Given the description of an element on the screen output the (x, y) to click on. 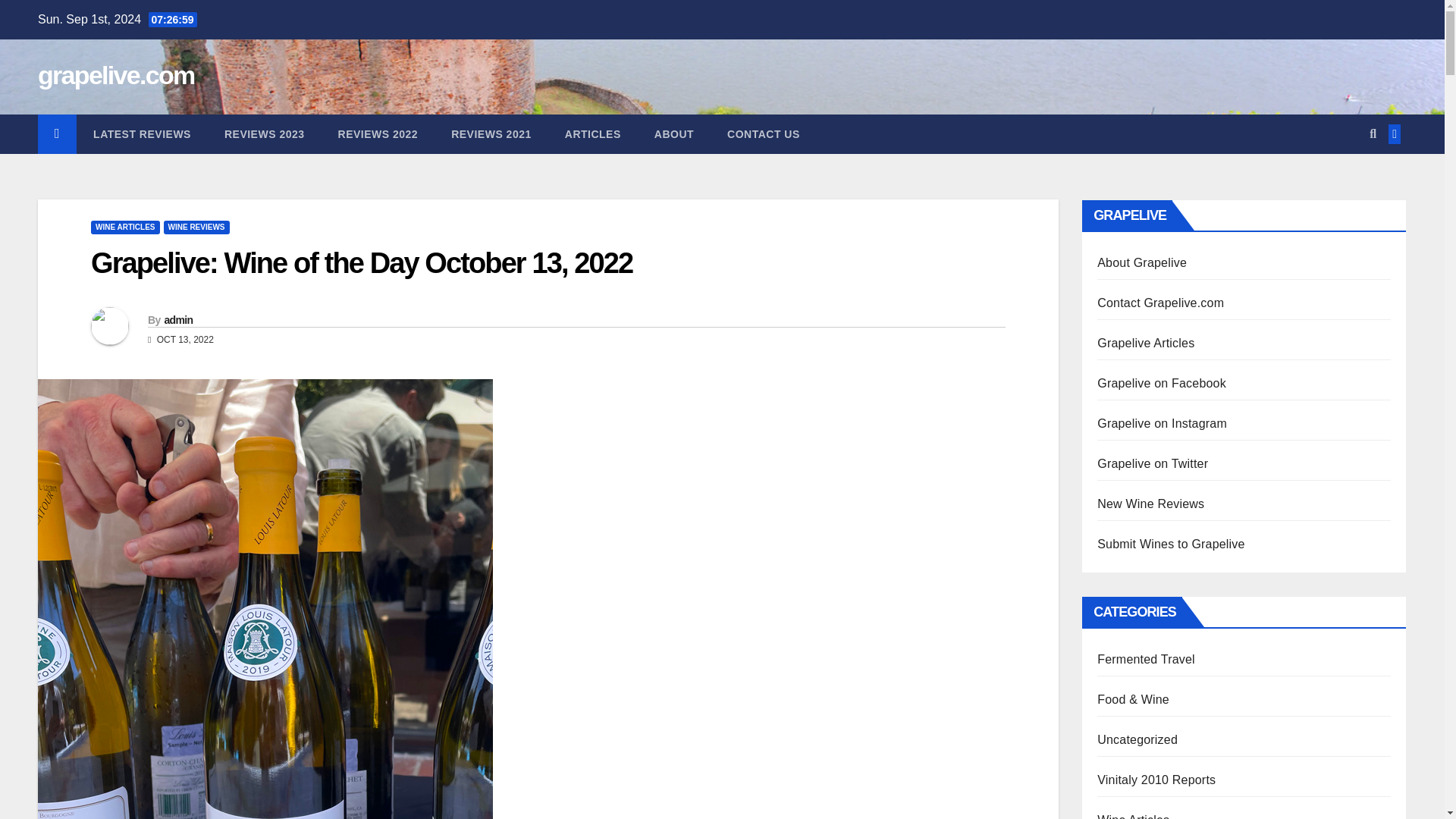
Articles (592, 133)
Reviews 2023 (264, 133)
Reviews 2021 (490, 133)
REVIEWS 2021 (490, 133)
Contact Us (763, 133)
Latest Reviews (142, 133)
admin (177, 319)
grapelive.com (116, 74)
ARTICLES (592, 133)
REVIEWS 2023 (264, 133)
